Given the description of an element on the screen output the (x, y) to click on. 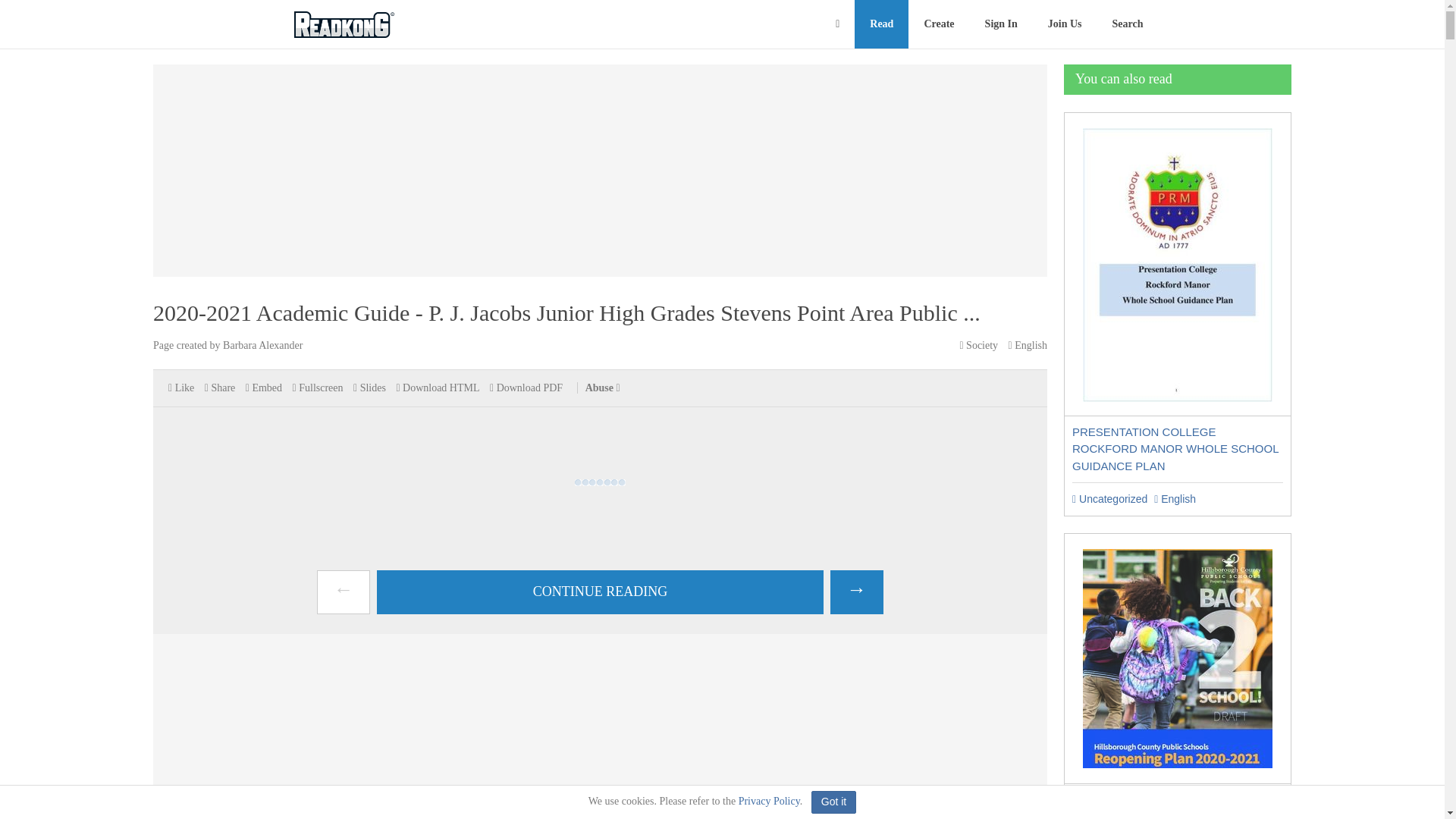
Society (978, 345)
Join Us (1064, 24)
Create (938, 24)
Share (220, 387)
Embed (264, 387)
Download HTML (437, 387)
Sign In (1000, 24)
